Given the description of an element on the screen output the (x, y) to click on. 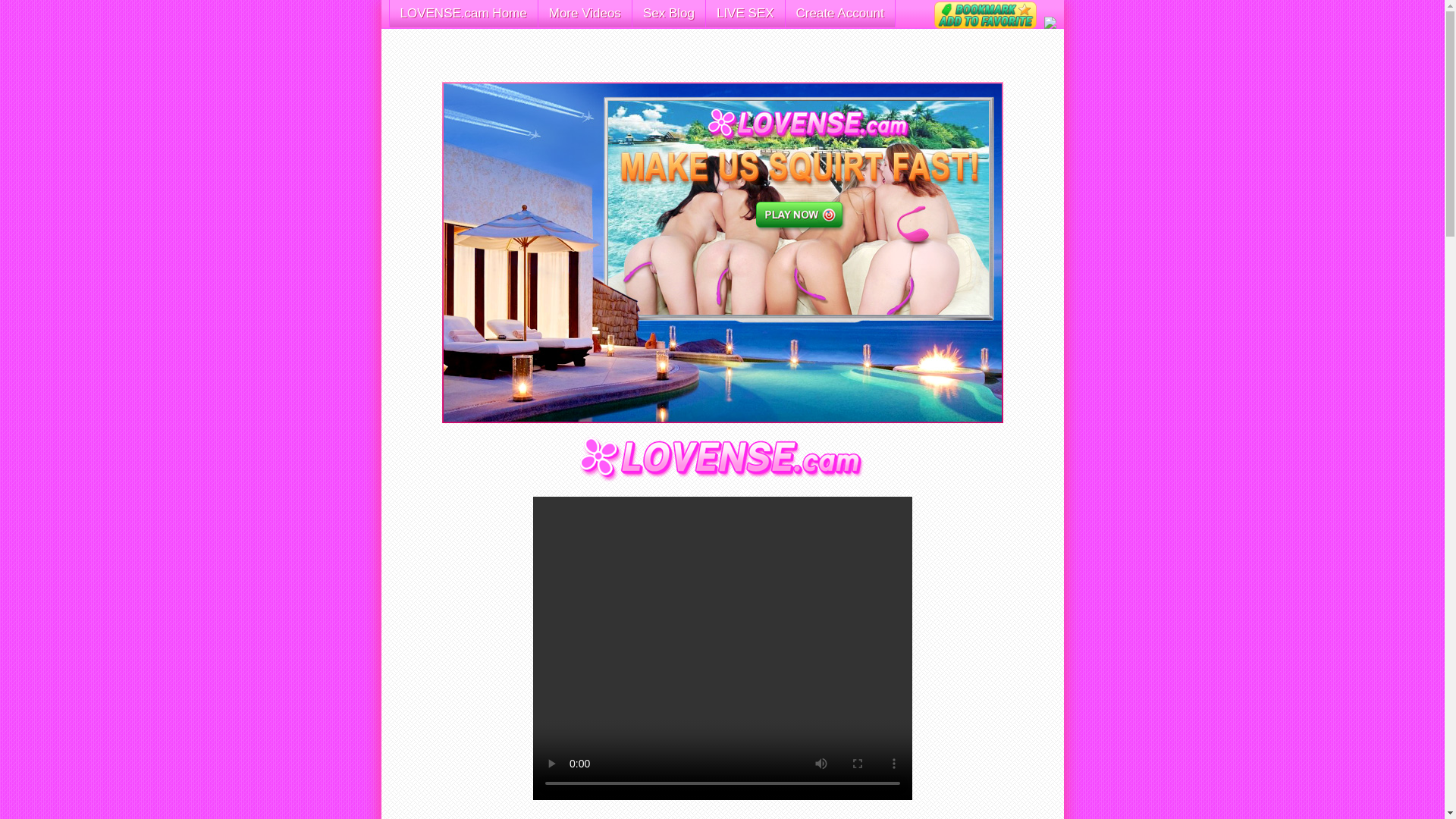
Create Account (840, 13)
More Videos (584, 13)
LOVENSE.cam Home (463, 13)
LIVE SEX (745, 13)
Sex Blog (667, 13)
